Given the description of an element on the screen output the (x, y) to click on. 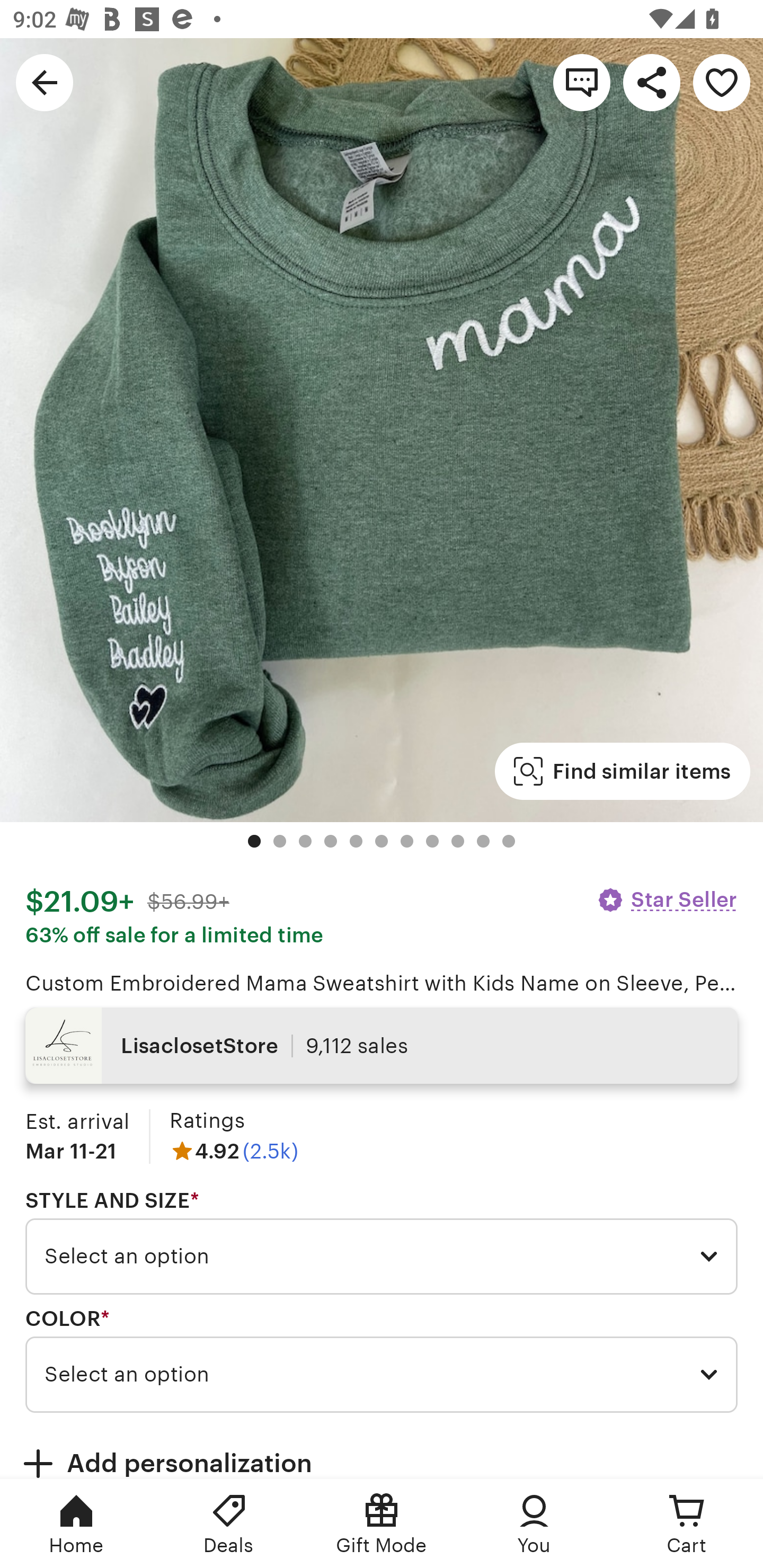
Navigate up (44, 81)
Contact shop (581, 81)
Share (651, 81)
Find similar items (622, 771)
Star Seller (666, 899)
LisaclosetStore 9,112 sales (381, 1045)
Ratings (206, 1120)
4.92 (2.5k) (233, 1150)
STYLE AND SIZE * Required Select an option (381, 1241)
Select an option (381, 1256)
COLOR * Required Select an option (381, 1359)
Select an option (381, 1373)
Add personalization Add personalization Required (381, 1451)
Deals (228, 1523)
Gift Mode (381, 1523)
You (533, 1523)
Cart (686, 1523)
